Given the description of an element on the screen output the (x, y) to click on. 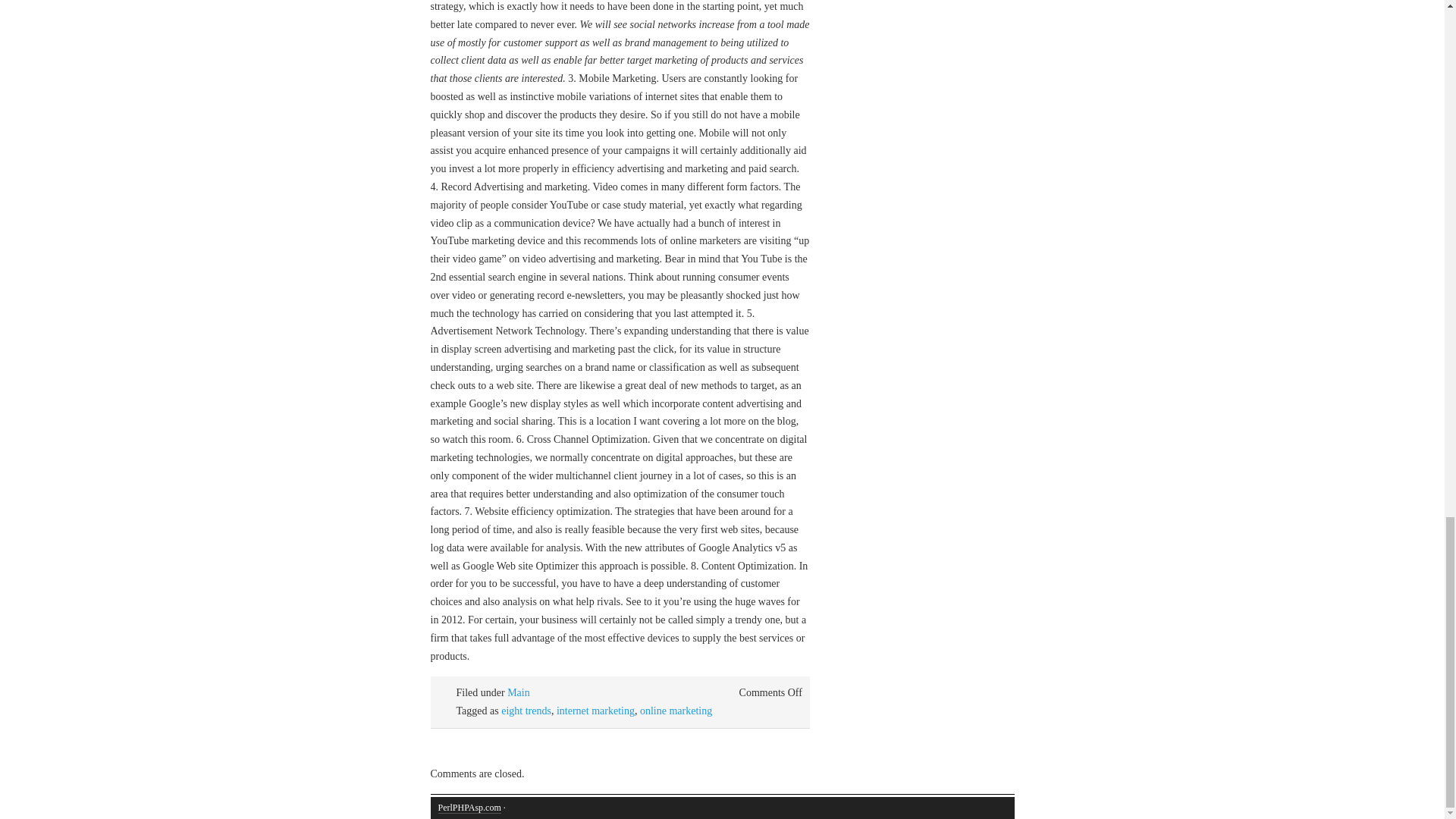
internet marketing (595, 710)
eight trends (525, 710)
Main (517, 692)
PerlPHPAsp.com (469, 808)
online marketing (675, 710)
